Given the description of an element on the screen output the (x, y) to click on. 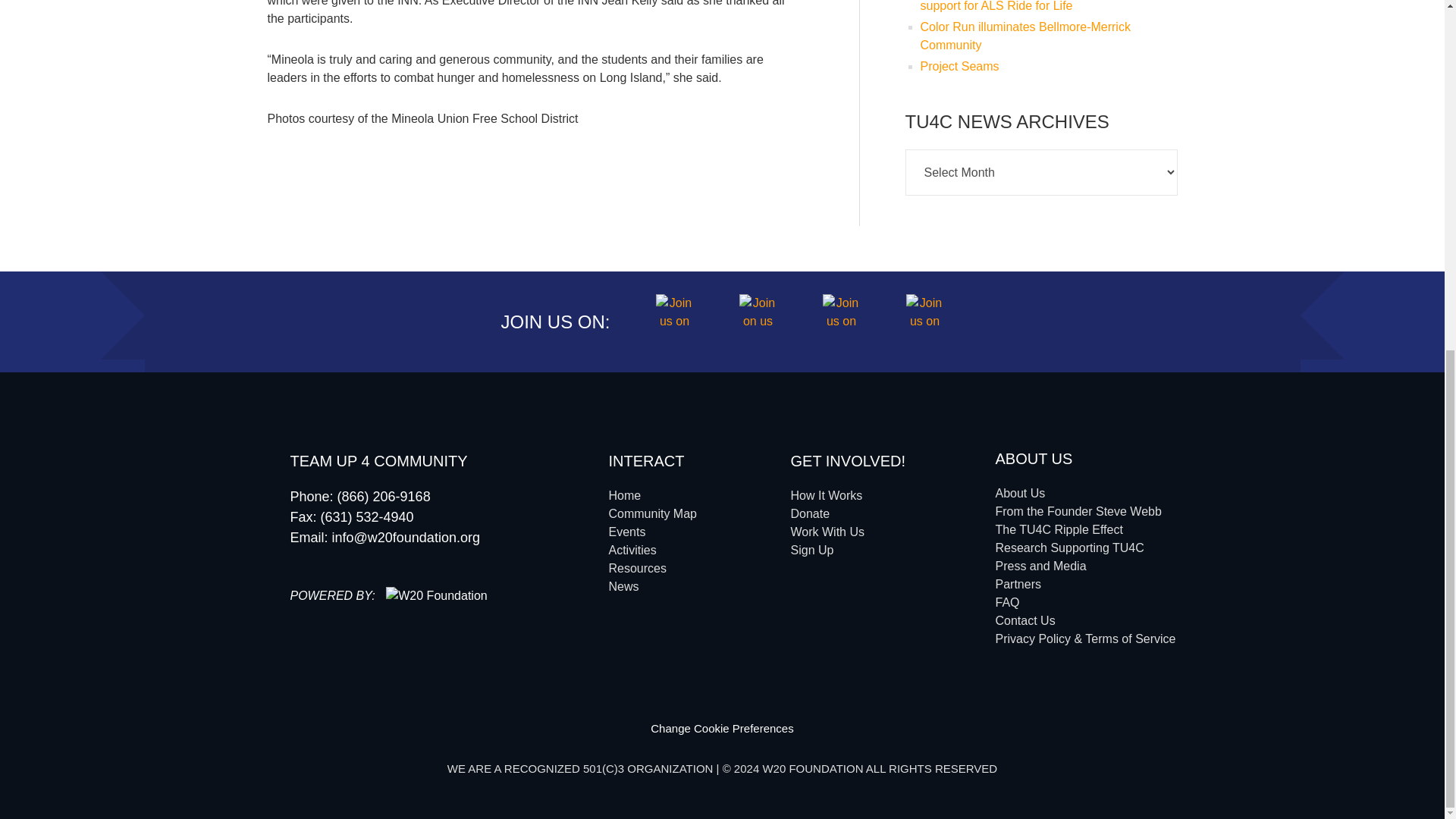
Activities (632, 549)
Home (624, 495)
Events (626, 531)
Resources (636, 567)
News (623, 585)
Project Seams (959, 65)
Community Map (651, 513)
Color Run illuminates Bellmore-Merrick Community (1025, 35)
